Given the description of an element on the screen output the (x, y) to click on. 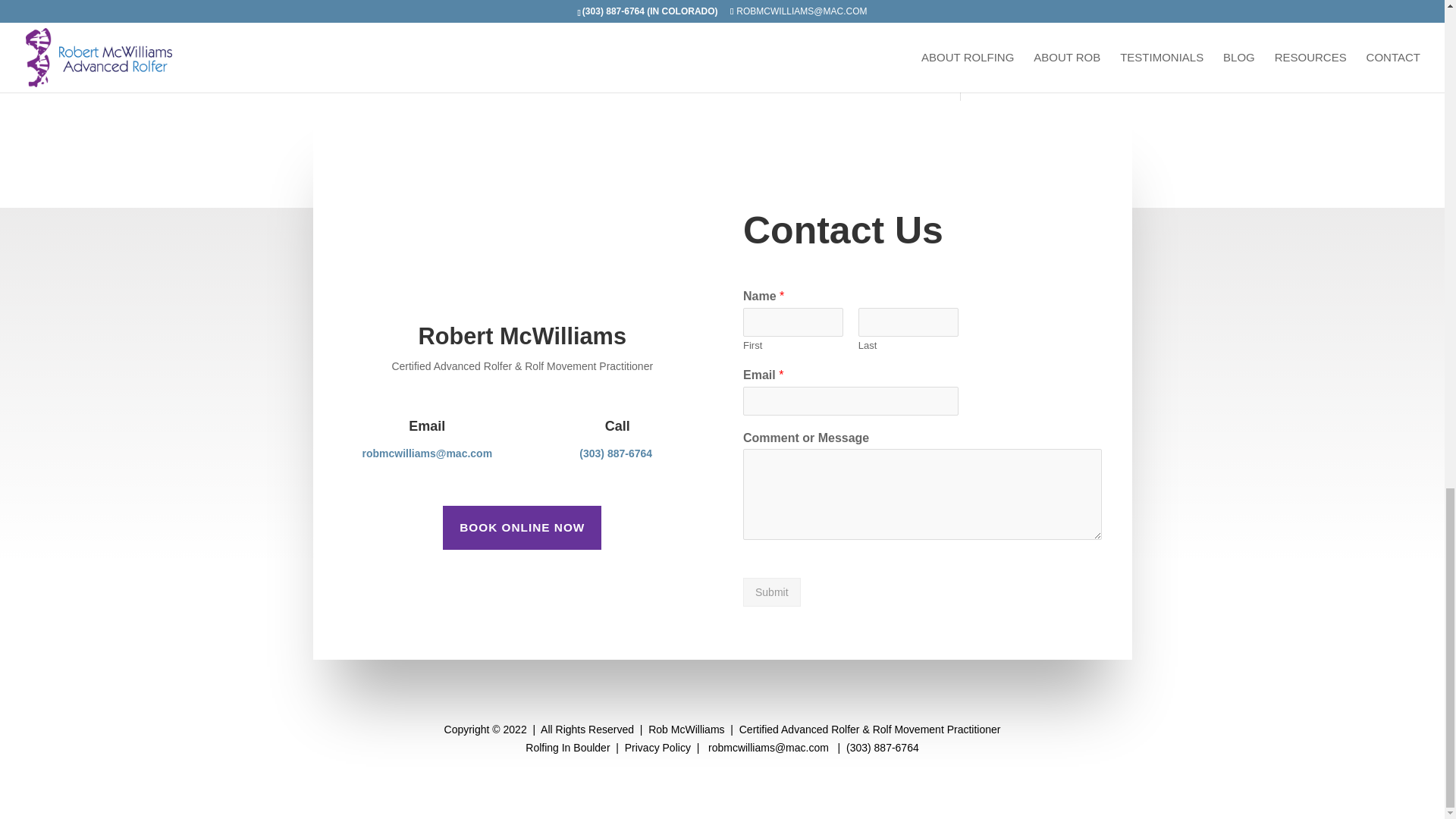
Privacy Policy (657, 747)
Submit Comment (840, 57)
Submit Comment (840, 57)
BOOK ONLINE NOW (521, 527)
Submit (771, 592)
yes (319, 17)
